Given the description of an element on the screen output the (x, y) to click on. 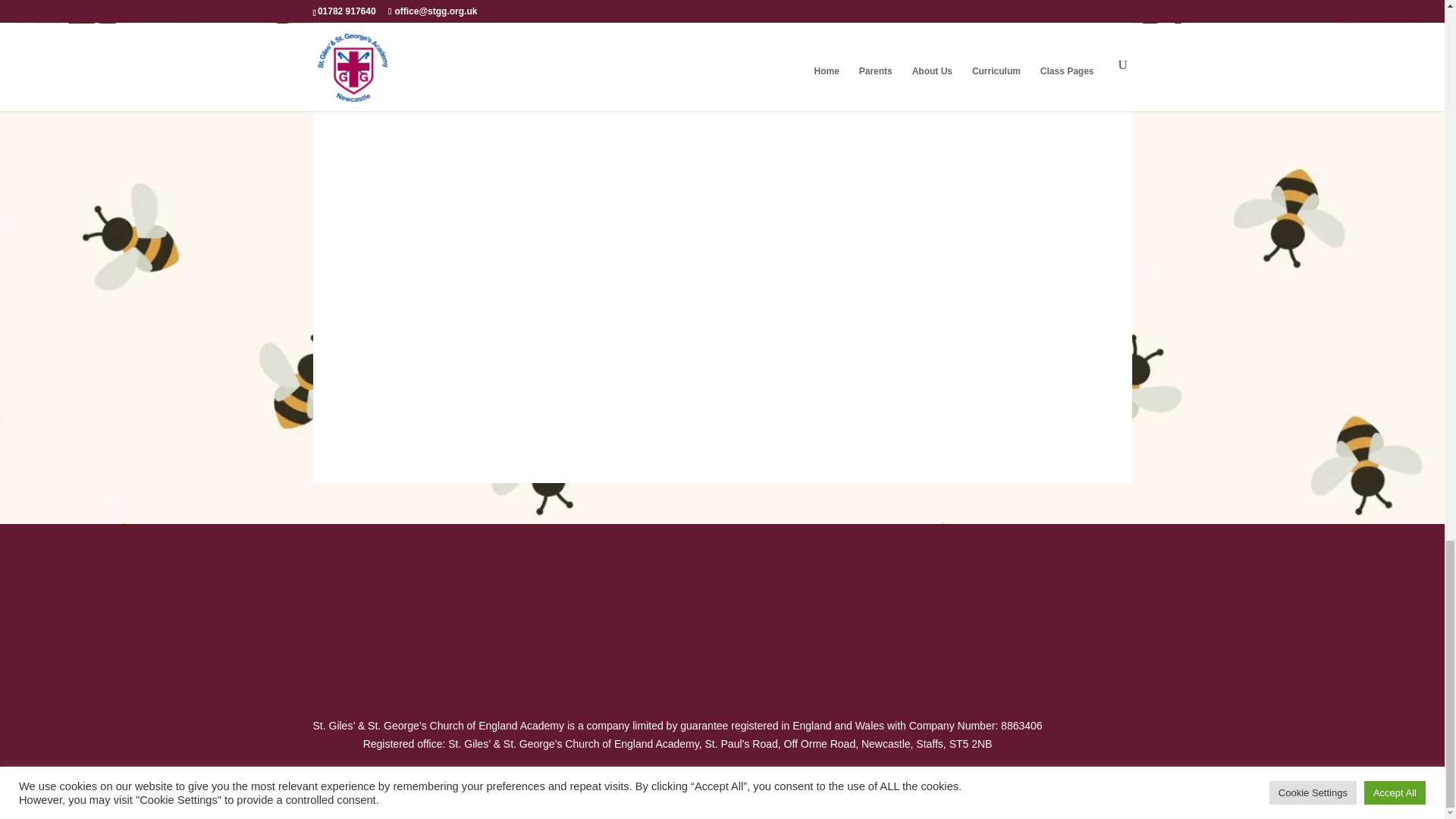
Marble run (617, 37)
Sensory circuit (828, 37)
Painting (406, 37)
ELSA work (406, 247)
Messy play (617, 247)
Working together (617, 458)
Bubble play (828, 247)
Building (1038, 247)
